Given the description of an element on the screen output the (x, y) to click on. 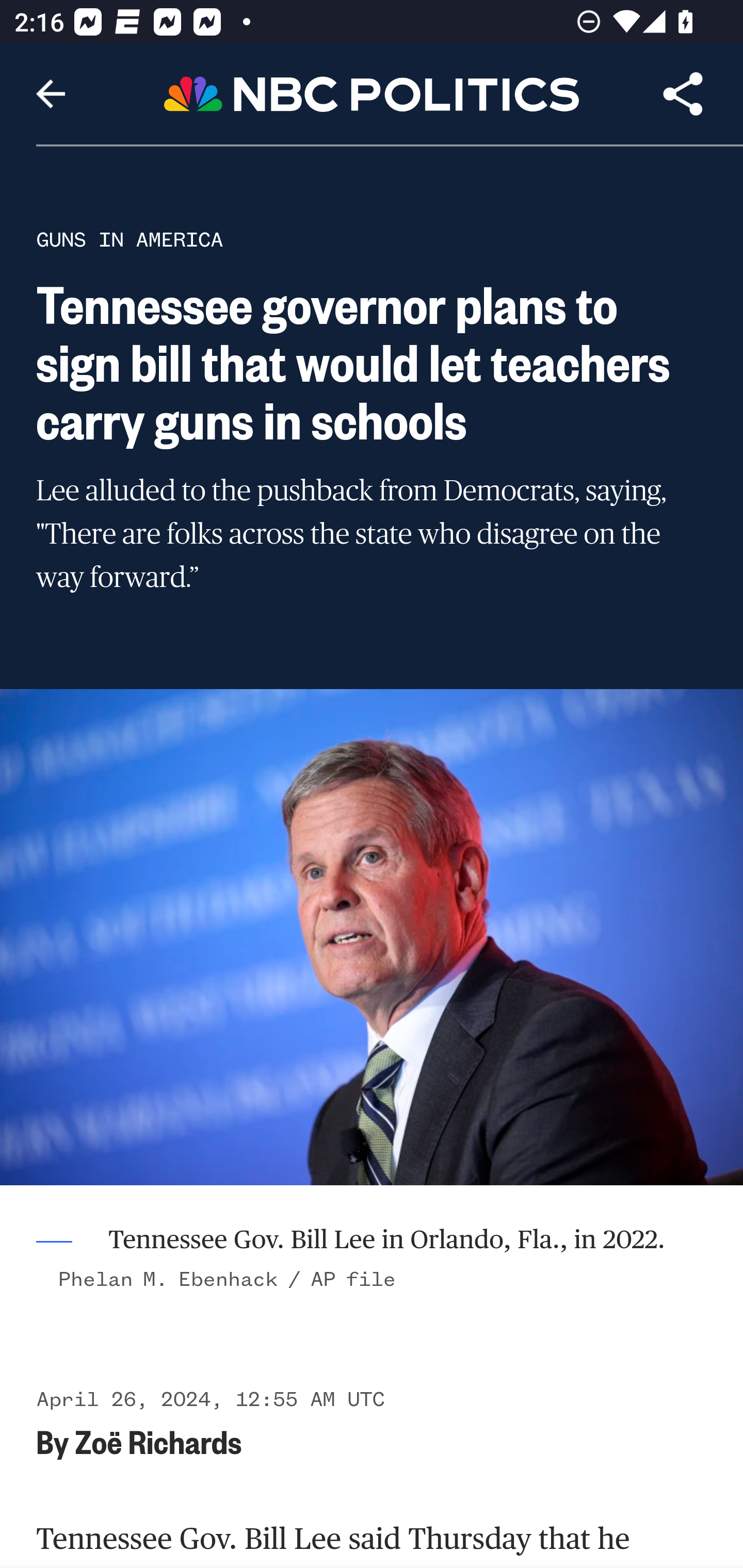
Navigate up (50, 93)
Share Article, button (683, 94)
Header, NBC Politics (371, 93)
